Given the description of an element on the screen output the (x, y) to click on. 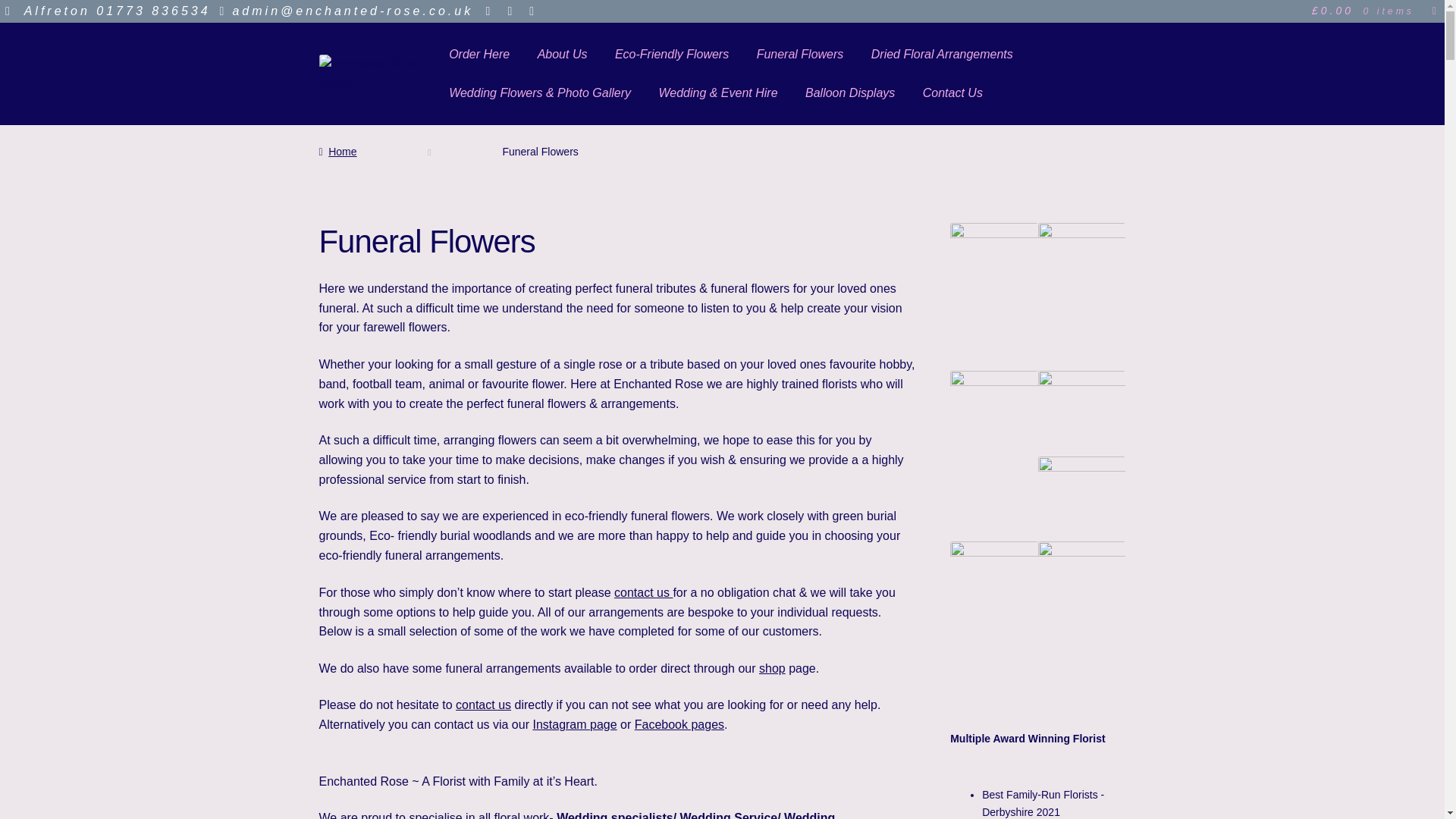
Order Here (478, 54)
Funeral Flowers (800, 54)
Dried Floral Arrangements (942, 54)
Balloon Displays (850, 92)
contact us (643, 592)
Instagram page (573, 724)
Alfreton 01773 836534 (105, 10)
contact us (483, 704)
Contact Us (952, 92)
Home (337, 151)
About Us (562, 54)
shop (772, 667)
Eco-Friendly Flowers (671, 54)
Facebook pages (678, 724)
